Given the description of an element on the screen output the (x, y) to click on. 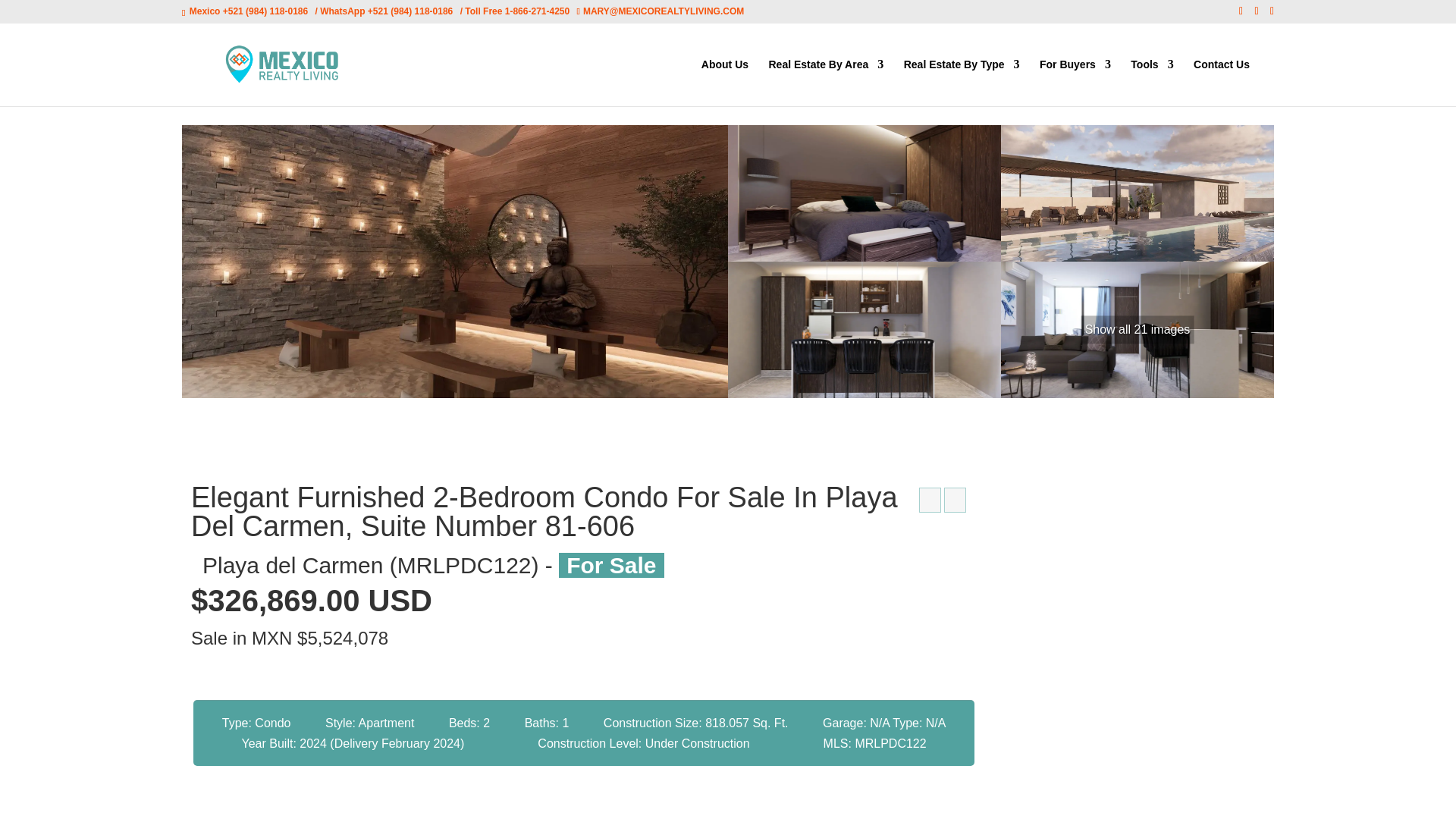
Tools (1152, 82)
Real Estate By Area (825, 82)
For Buyers (1074, 82)
Contact Us (1221, 82)
Toll Free 1-866-271-4250 (516, 10)
About Us (724, 82)
Real Estate By Type (962, 82)
